Given the description of an element on the screen output the (x, y) to click on. 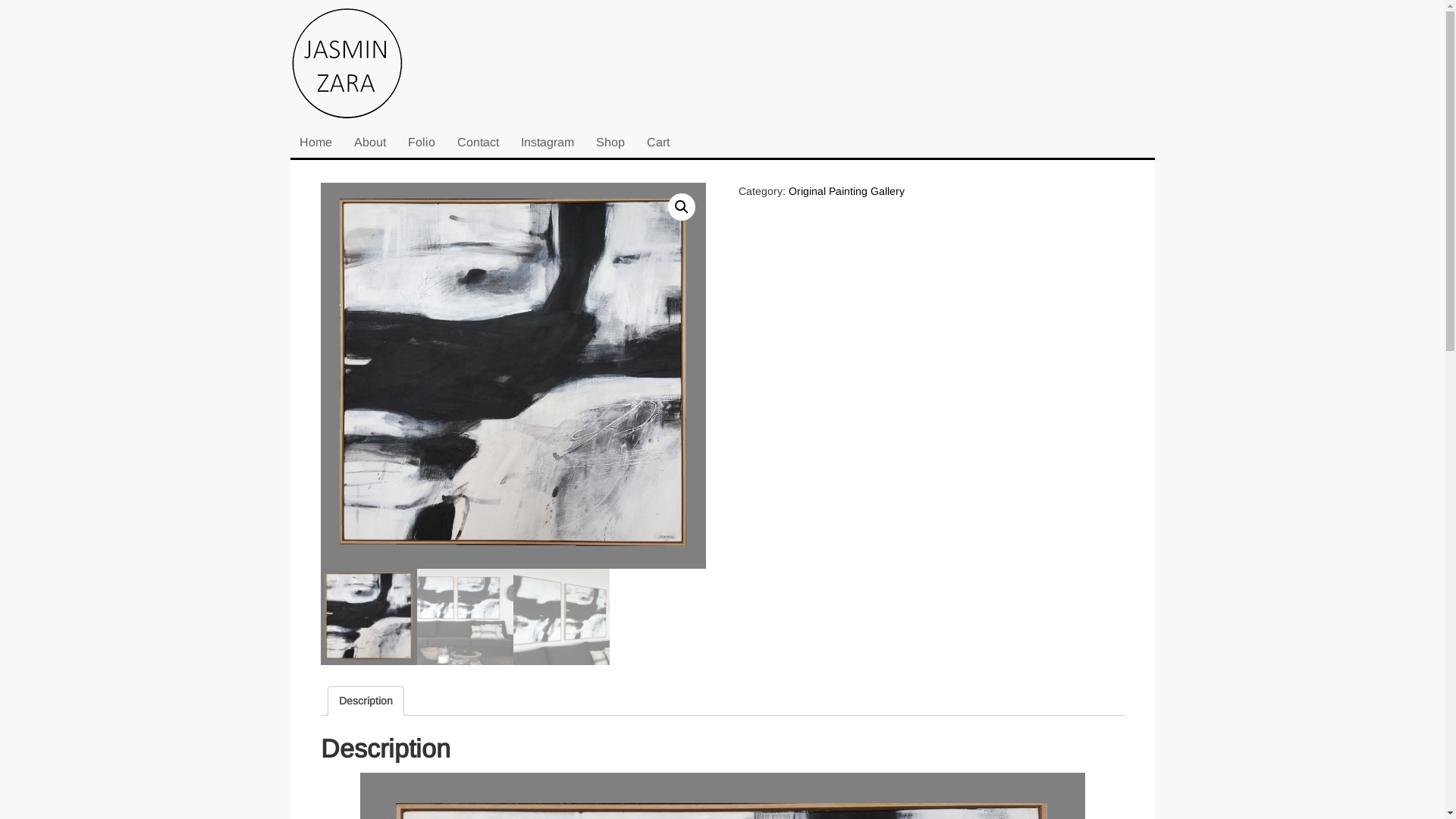
Shop Element type: text (609, 142)
Folio Element type: text (421, 142)
Home Element type: text (314, 142)
Cart Element type: text (657, 142)
About Element type: text (369, 142)
Original Painting Gallery Element type: text (846, 191)
Contact Element type: text (477, 142)
Instagram Element type: text (546, 142)
'Black Lines 10.' 120 x 120cm framed Element type: hover (513, 375)
Description Element type: text (365, 701)
Jasmin Zara Art Element type: text (365, 66)
